Given the description of an element on the screen output the (x, y) to click on. 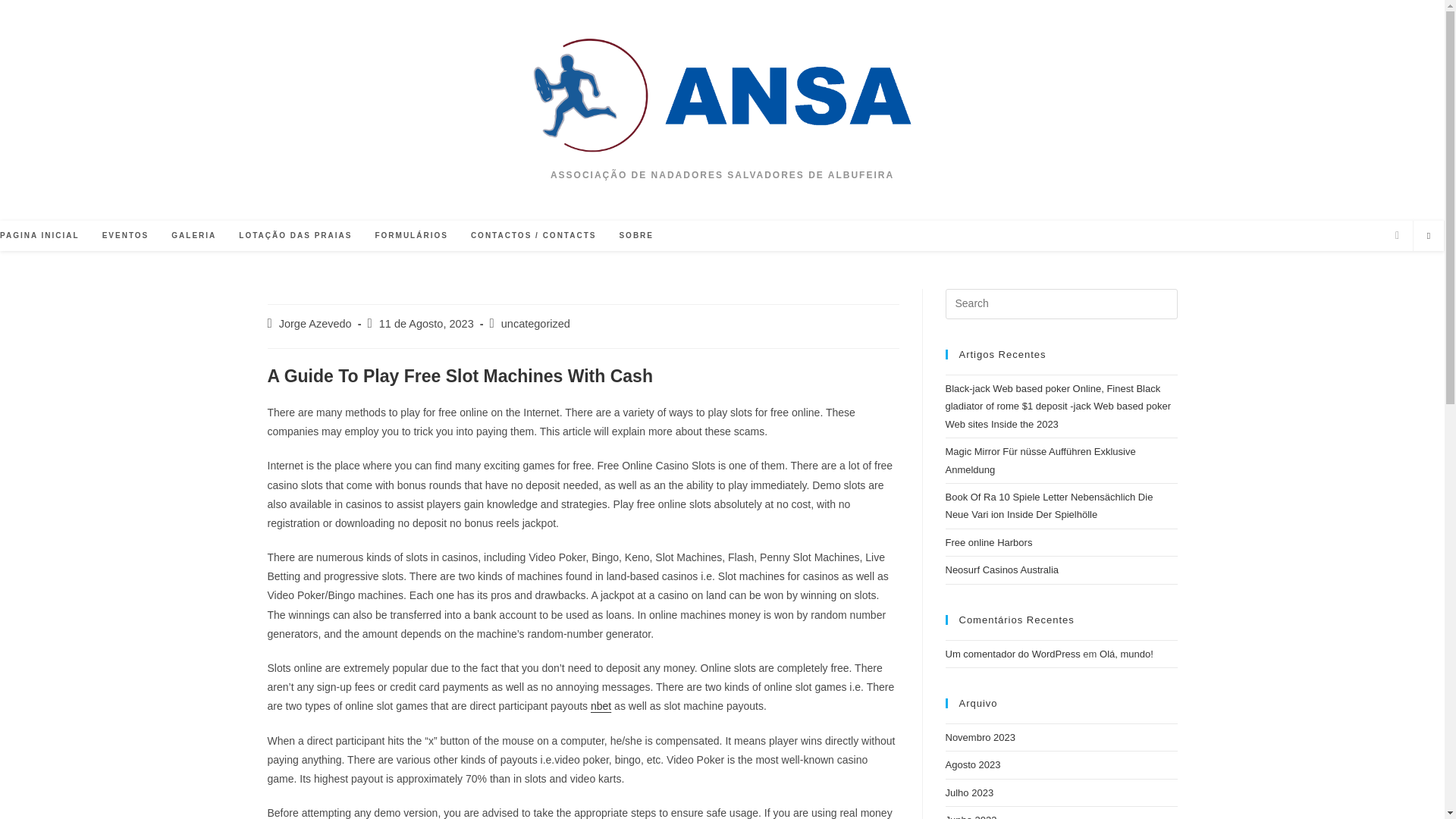
PAGINA INICIAL (45, 235)
SOBRE (636, 235)
Agosto 2023 (972, 764)
EVENTOS (125, 235)
Novembro 2023 (979, 737)
nbet (601, 705)
Um comentador do WordPress (1012, 654)
Free online Harbors (988, 542)
Neosurf Casinos Australia (1001, 569)
uncategorized (535, 323)
